Given the description of an element on the screen output the (x, y) to click on. 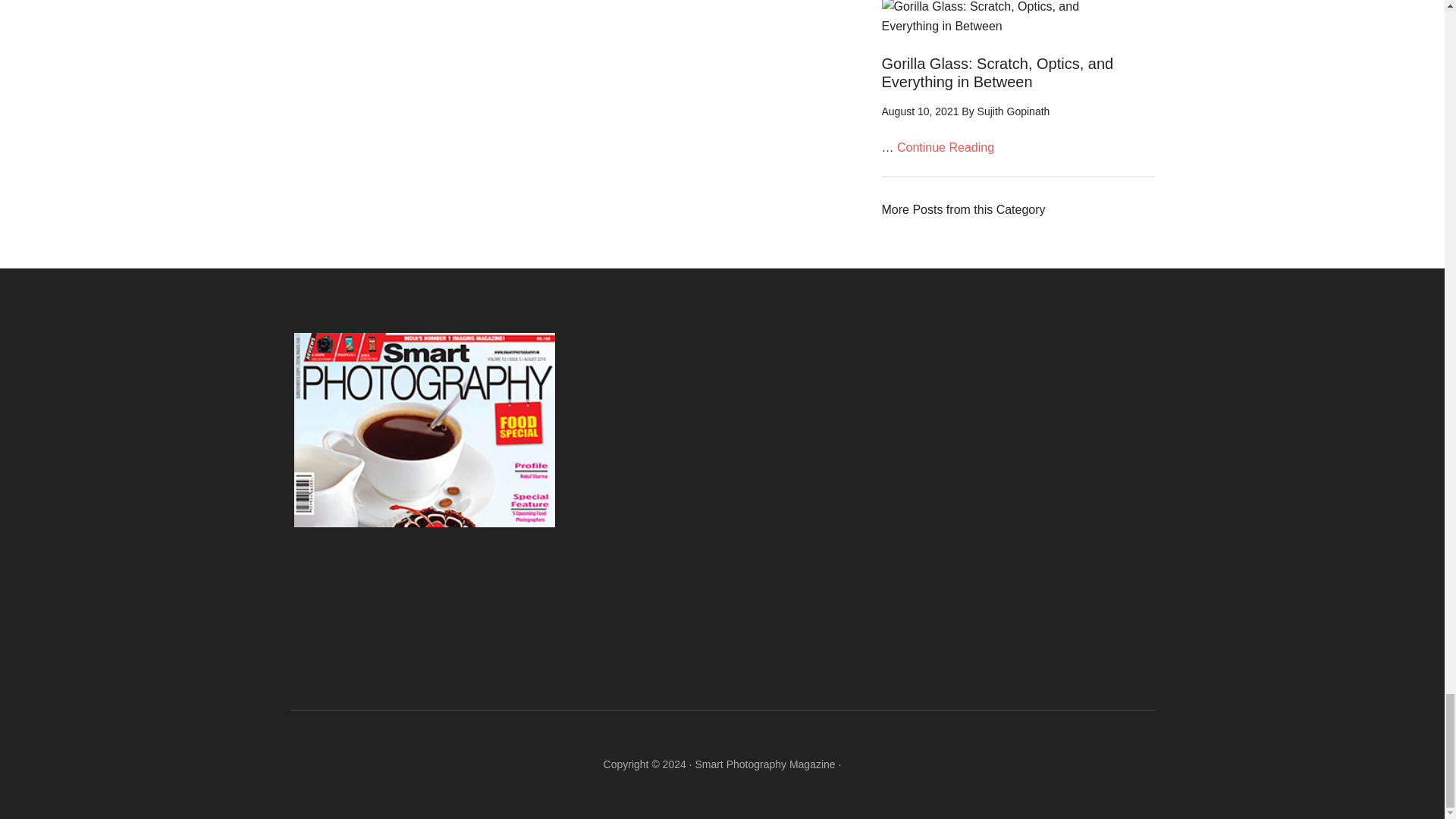
Specials (962, 209)
